Given the description of an element on the screen output the (x, y) to click on. 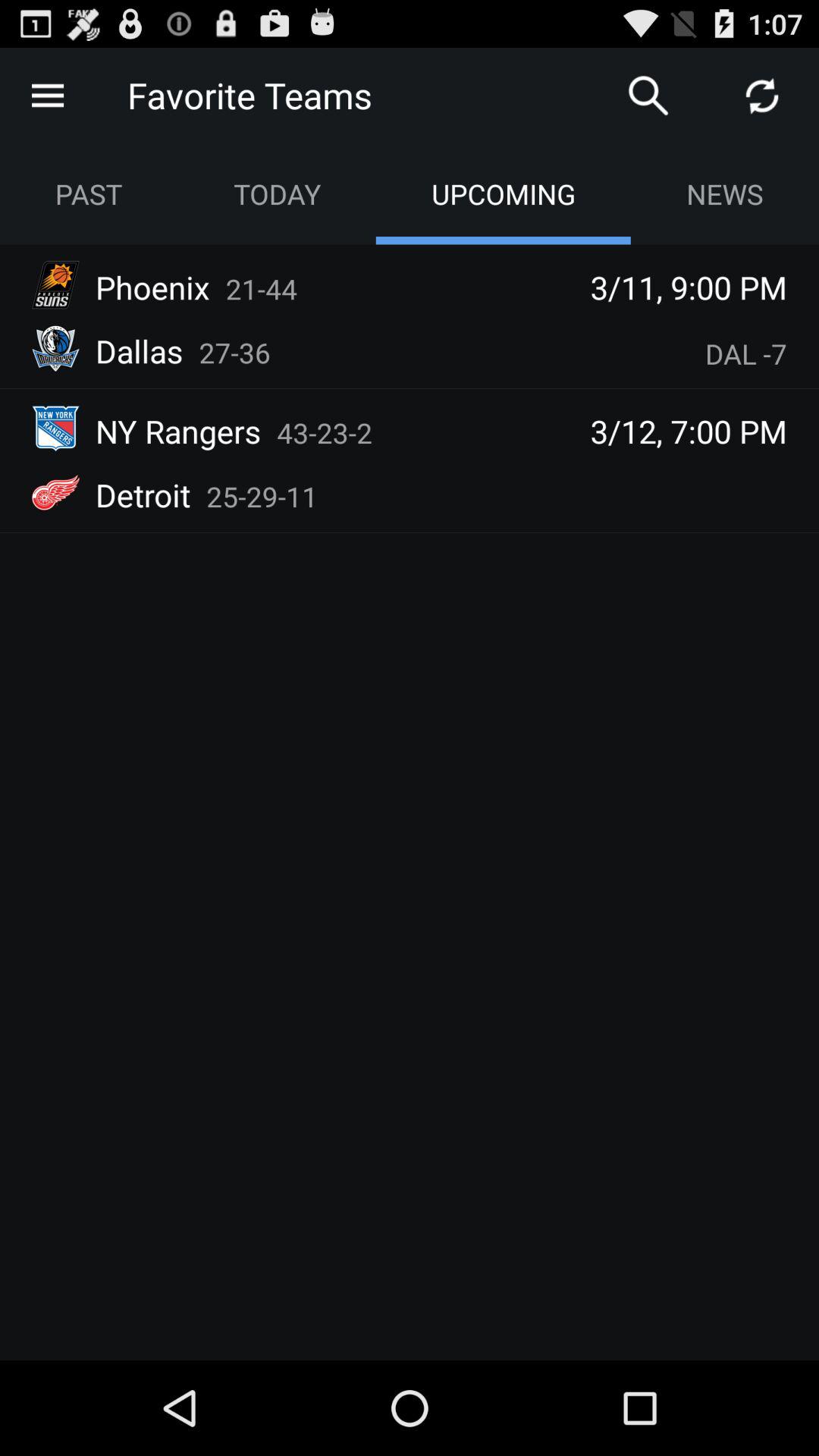
toggle search (648, 95)
